Given the description of an element on the screen output the (x, y) to click on. 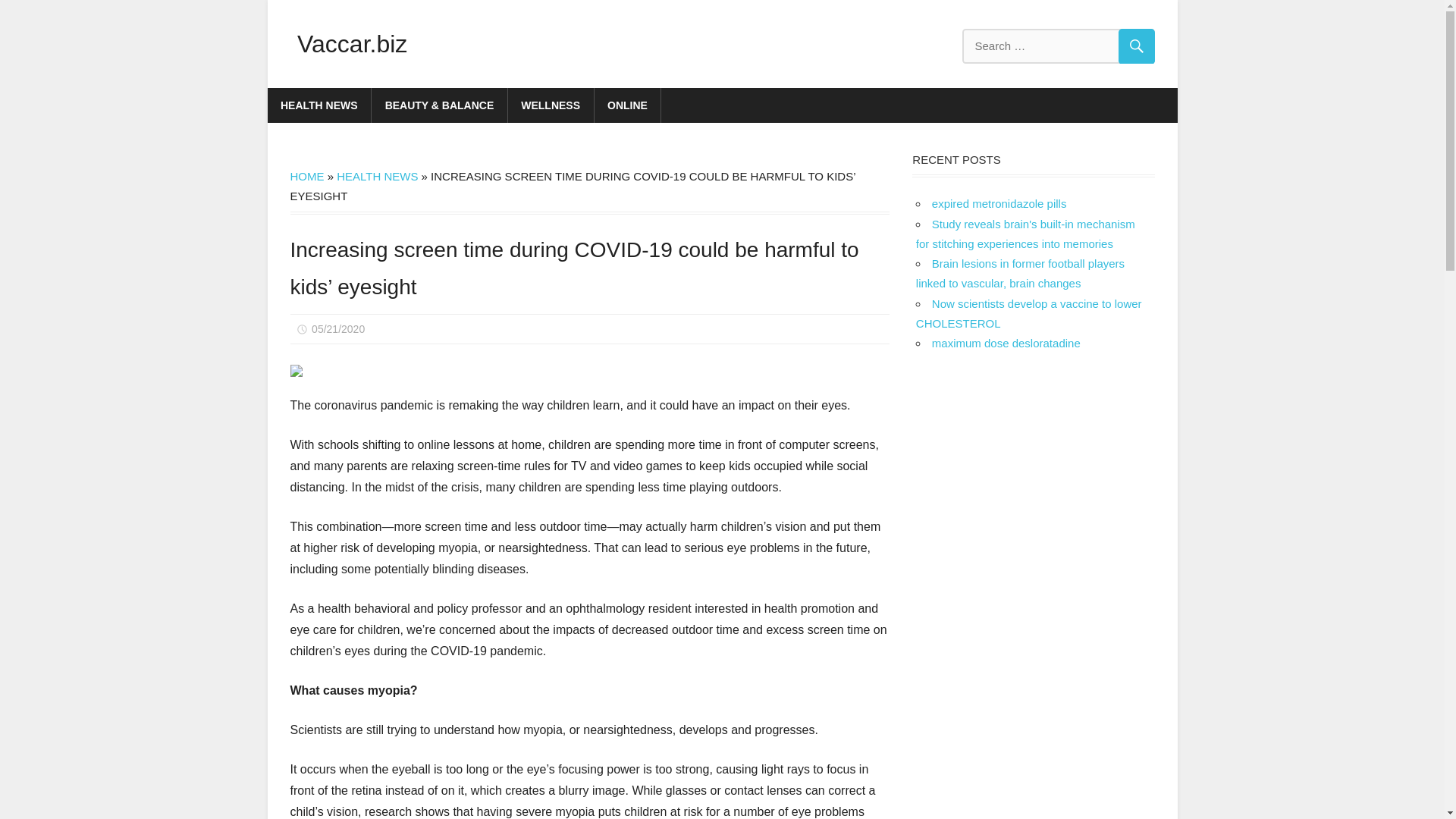
HOME (306, 175)
HEALTH NEWS (318, 104)
5:45 pm (338, 328)
Search for: (1057, 46)
expired metronidazole pills (999, 203)
ONLINE (628, 104)
Now scientists develop a vaccine to lower CHOLESTEROL (1028, 313)
Vaccar.biz (352, 43)
maximum dose desloratadine (1005, 342)
WELLNESS (551, 104)
HEALTH NEWS (376, 175)
